Given the description of an element on the screen output the (x, y) to click on. 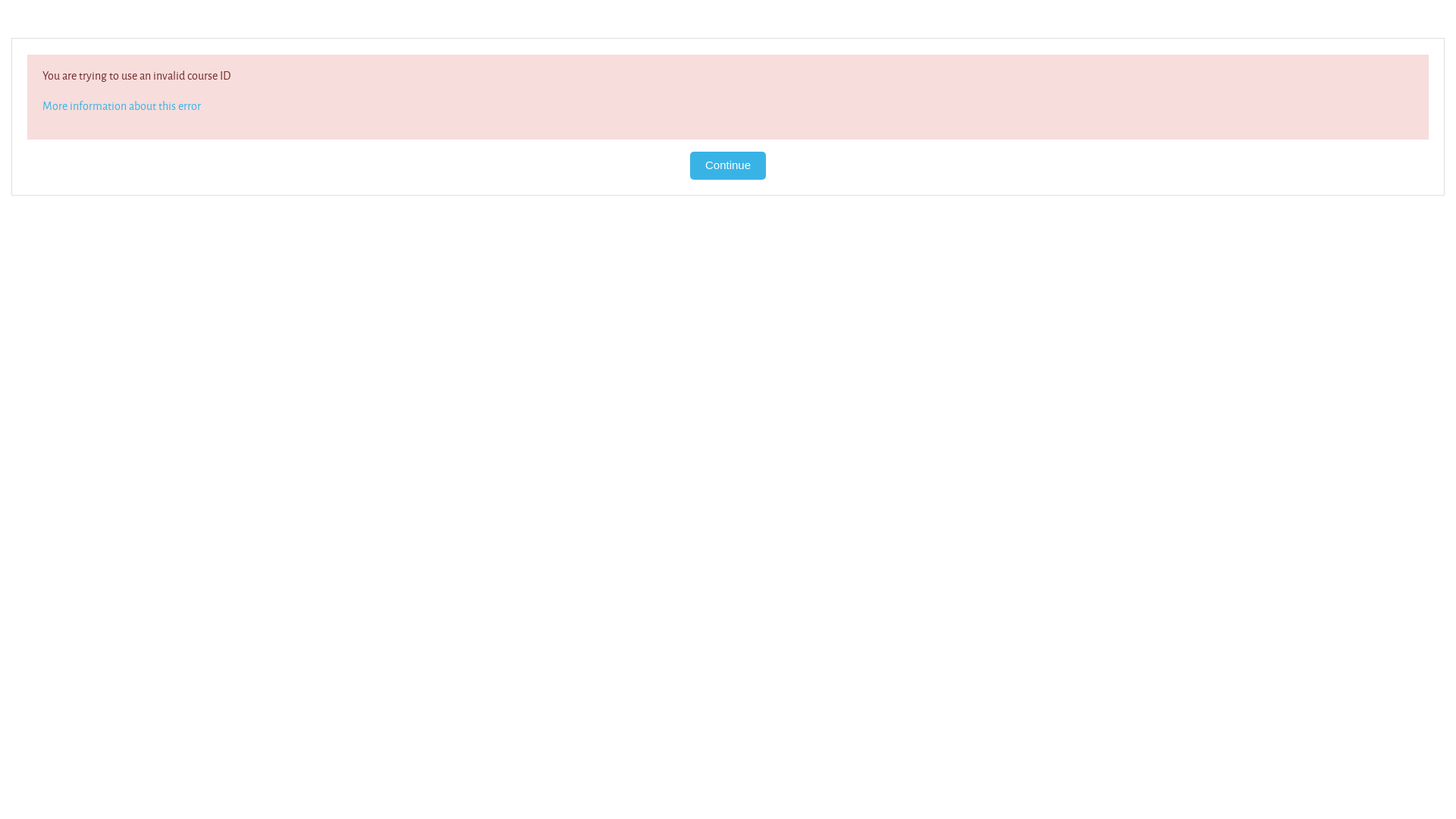
More information about this error Element type: text (121, 105)
Continue Element type: text (727, 165)
